Given the description of an element on the screen output the (x, y) to click on. 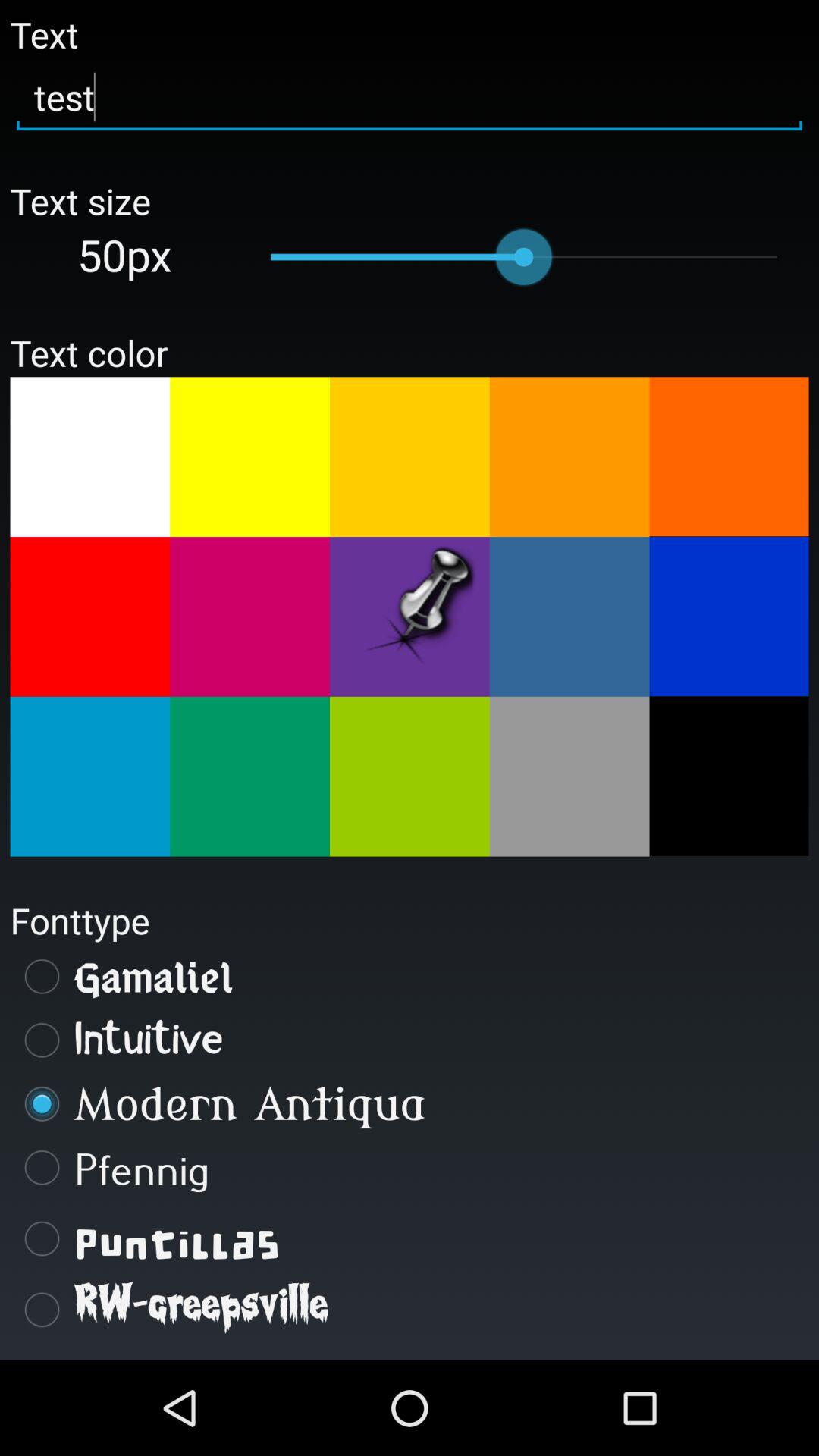
select the light green option (409, 776)
